Given the description of an element on the screen output the (x, y) to click on. 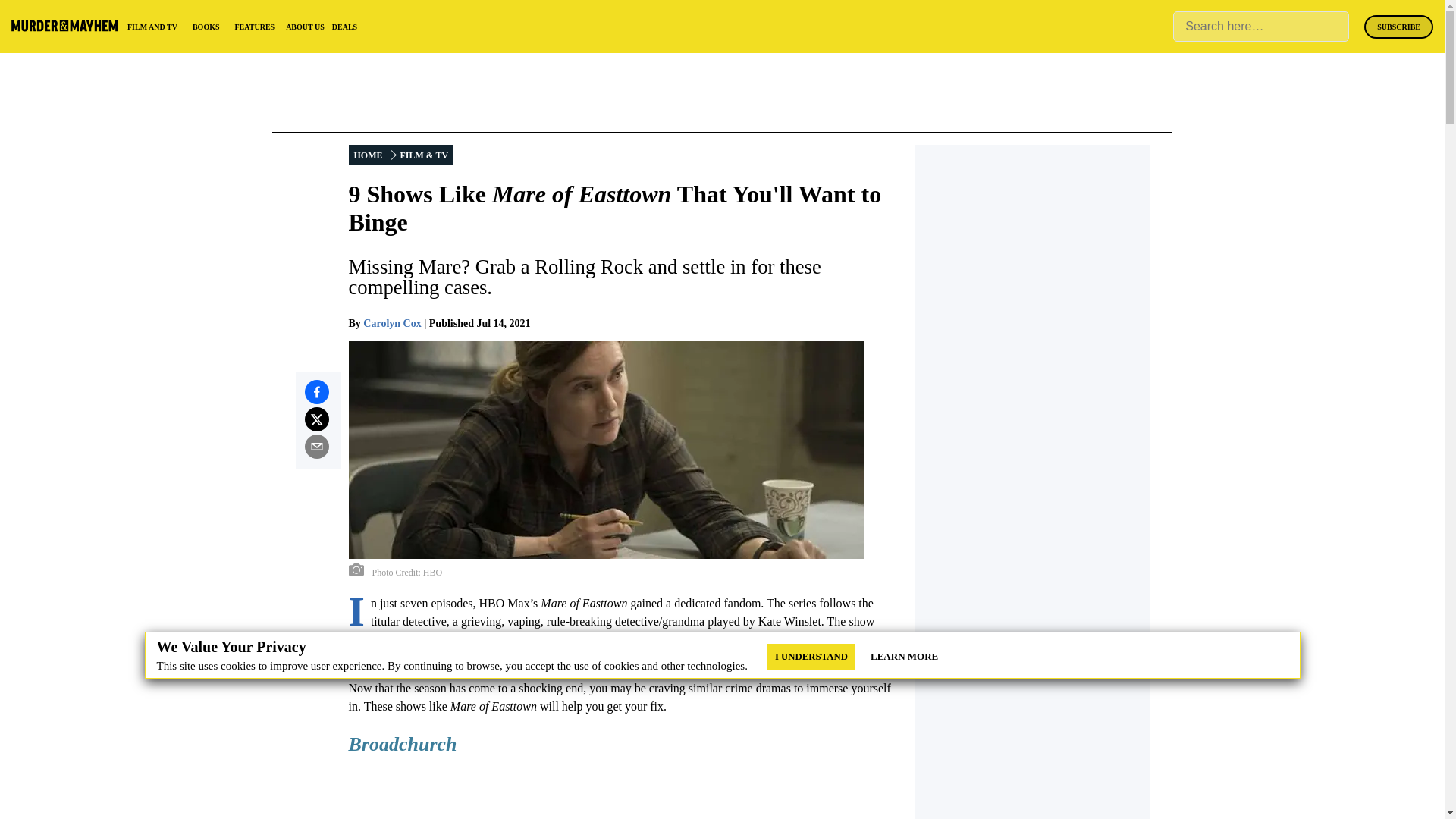
Carolyn Cox (391, 323)
BOOKS (205, 26)
SUBSCRIBE (1399, 26)
YouTube video player (561, 794)
HOME (368, 154)
LEARN MORE (903, 656)
ABOUT US (304, 26)
DEALS (343, 26)
FEATURES (254, 26)
FILM AND TV (152, 26)
